Given the description of an element on the screen output the (x, y) to click on. 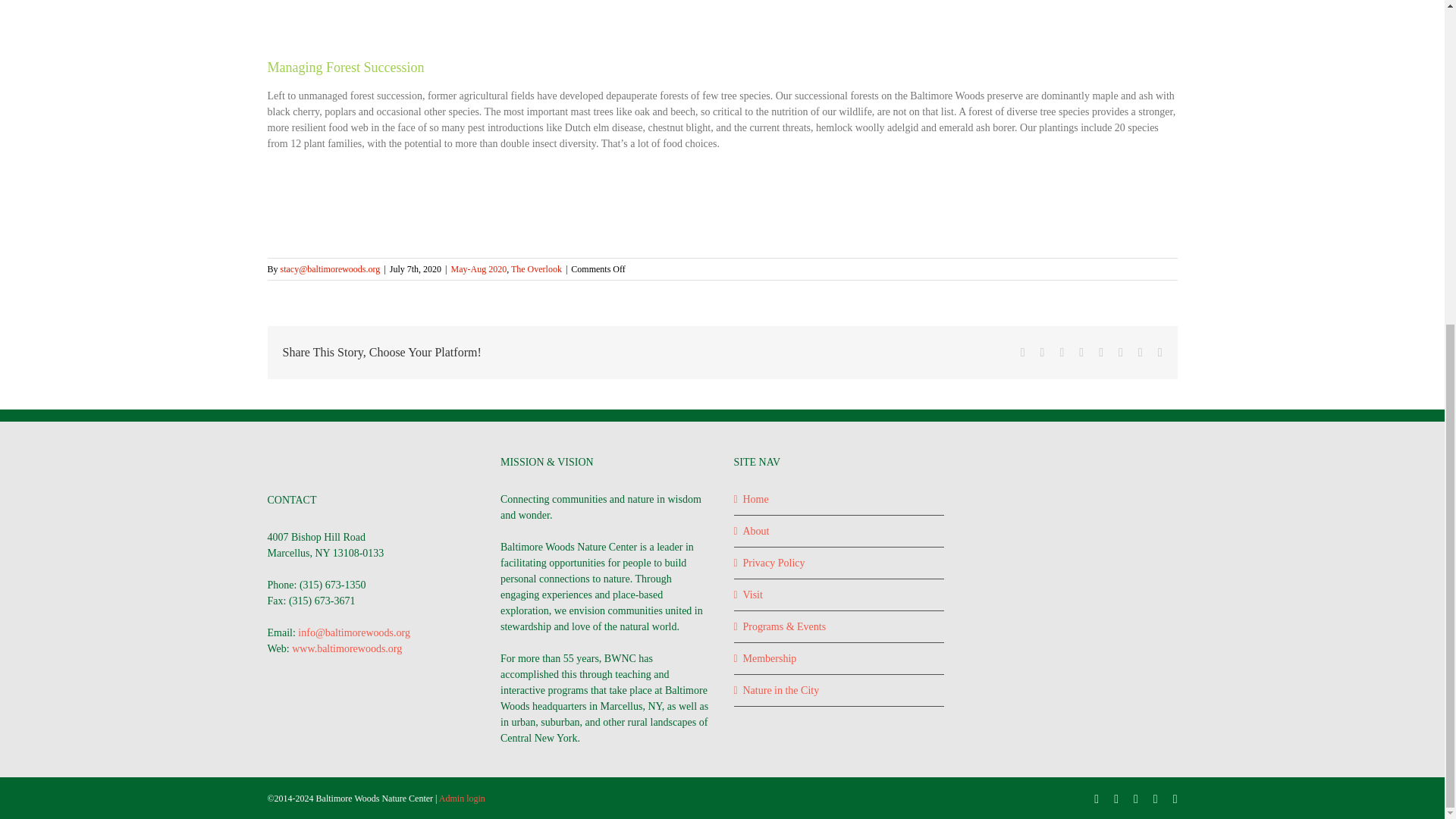
LinkedIn (1080, 352)
Facebook (1022, 352)
Tumblr (1101, 352)
Reddit (1061, 352)
Vk (1140, 352)
Email (1159, 352)
Twitter (1115, 799)
Facebook (1096, 799)
Pinterest (1120, 352)
Twitter (1043, 352)
